Given the description of an element on the screen output the (x, y) to click on. 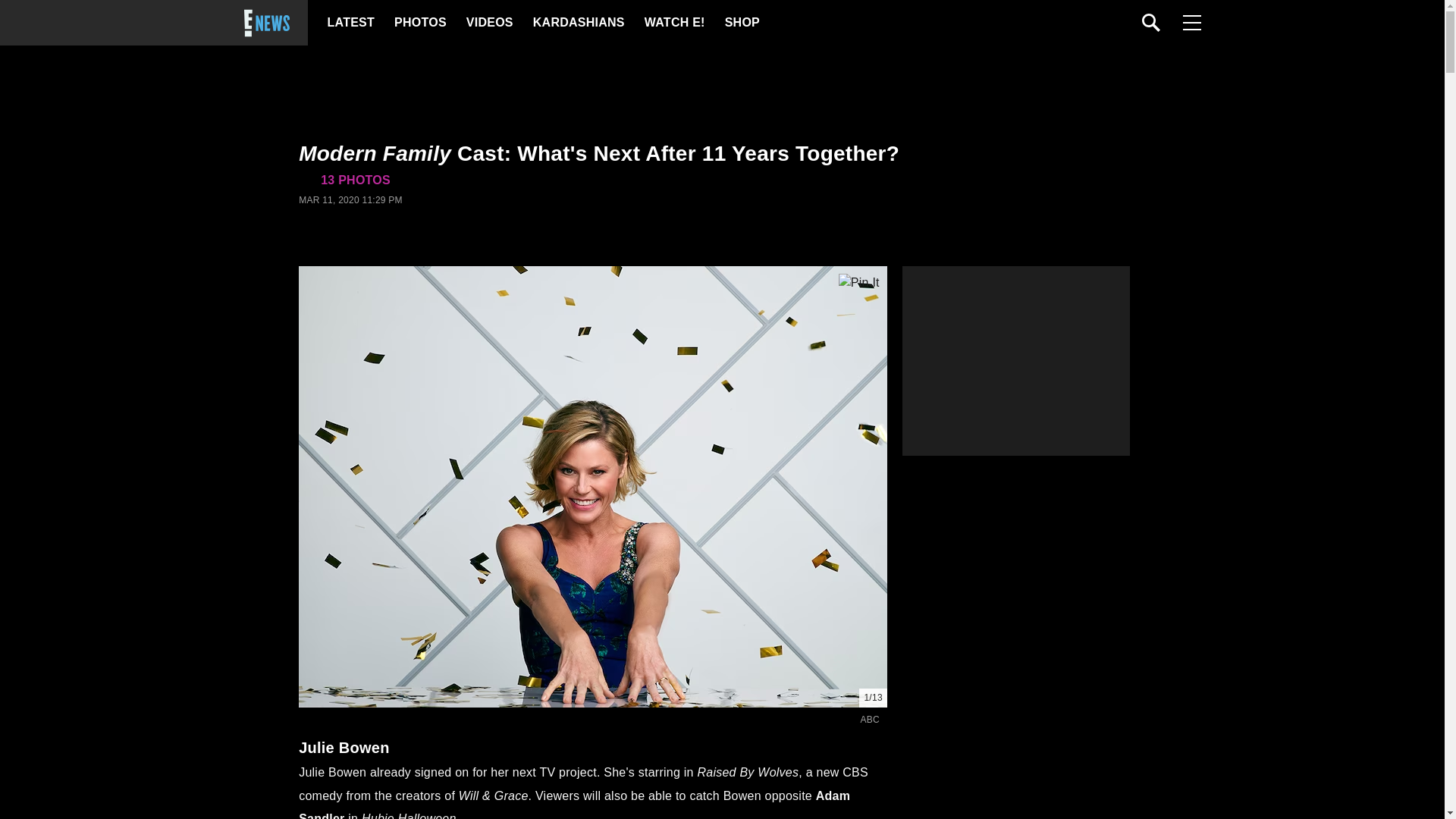
LATEST (350, 22)
PHOTOS (419, 22)
SHOP (741, 22)
KARDASHIANS (577, 22)
VIDEOS (488, 22)
WATCH E! (673, 22)
